Given the description of an element on the screen output the (x, y) to click on. 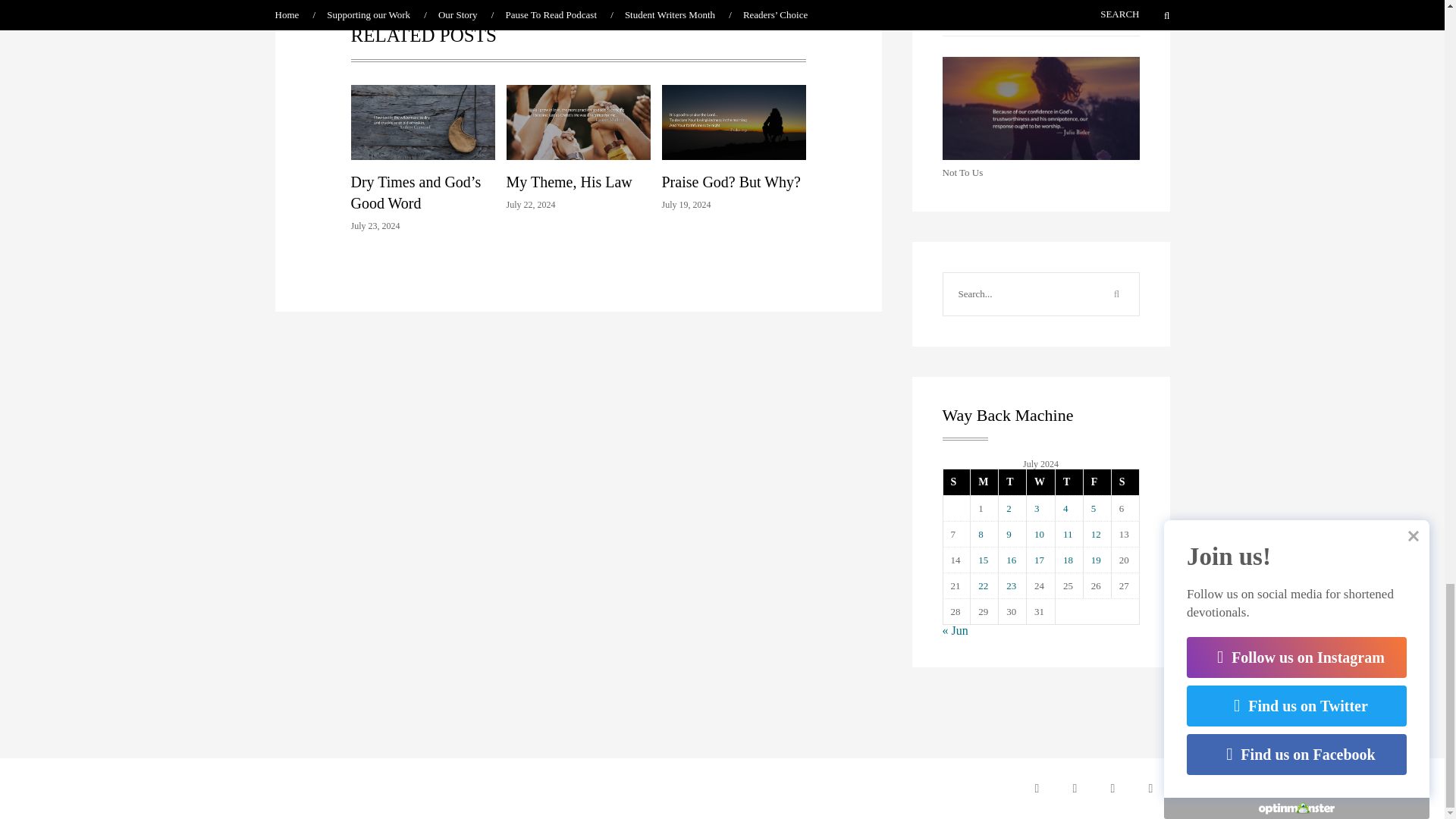
Sunday (957, 482)
Wednesday (1040, 482)
Monday (983, 482)
Saturday (1124, 482)
Search... (1018, 293)
Friday (1096, 482)
Tuesday (1011, 482)
Thursday (1068, 482)
